Given the description of an element on the screen output the (x, y) to click on. 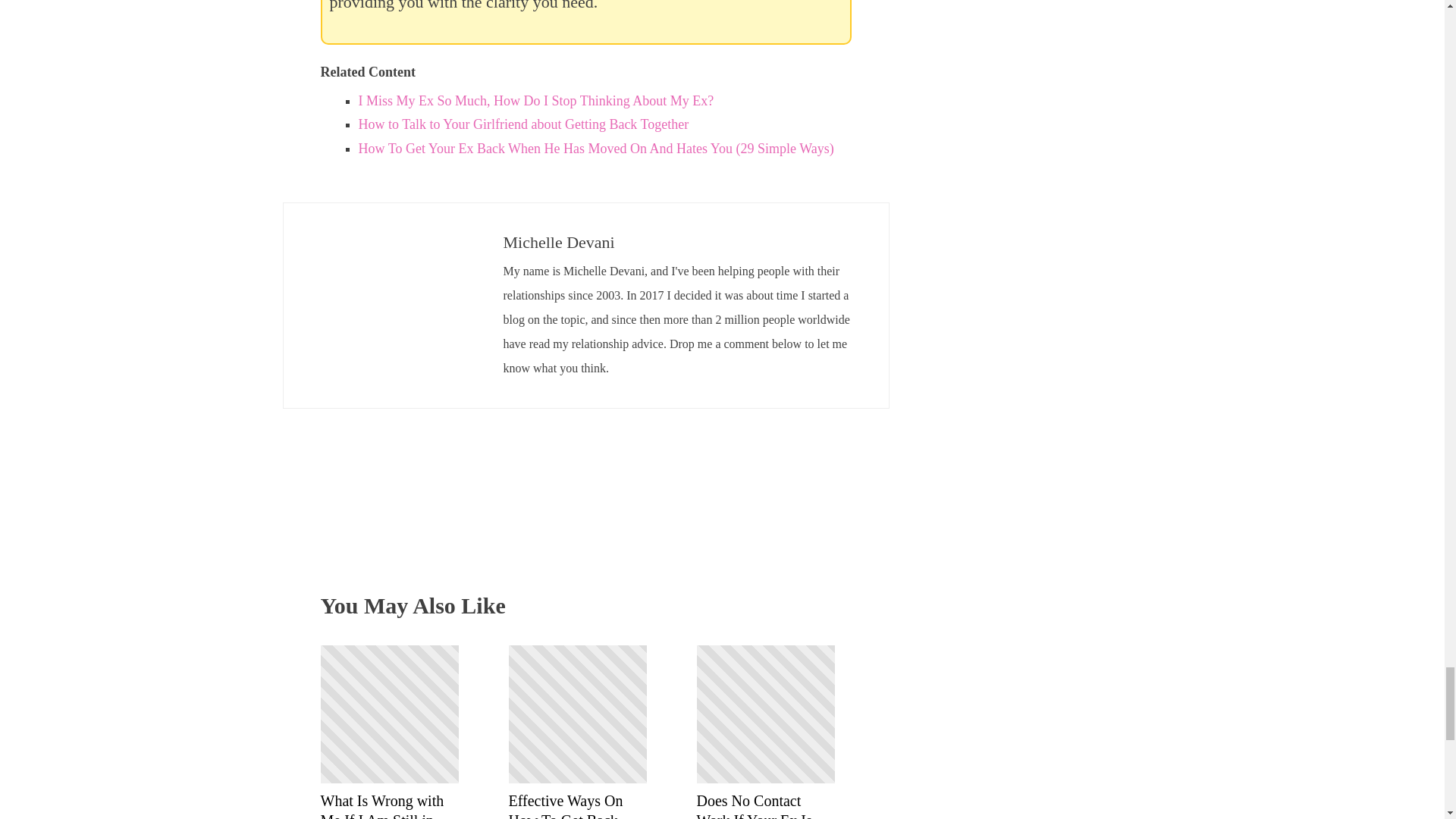
I Miss My Ex So Much, How Do I Stop Thinking About My Ex? (535, 100)
Does No Contact Work If Your Ex Is Seeing Someone Else? (764, 805)
How to Talk to Your Girlfriend about Getting Back Together (523, 124)
